Given the description of an element on the screen output the (x, y) to click on. 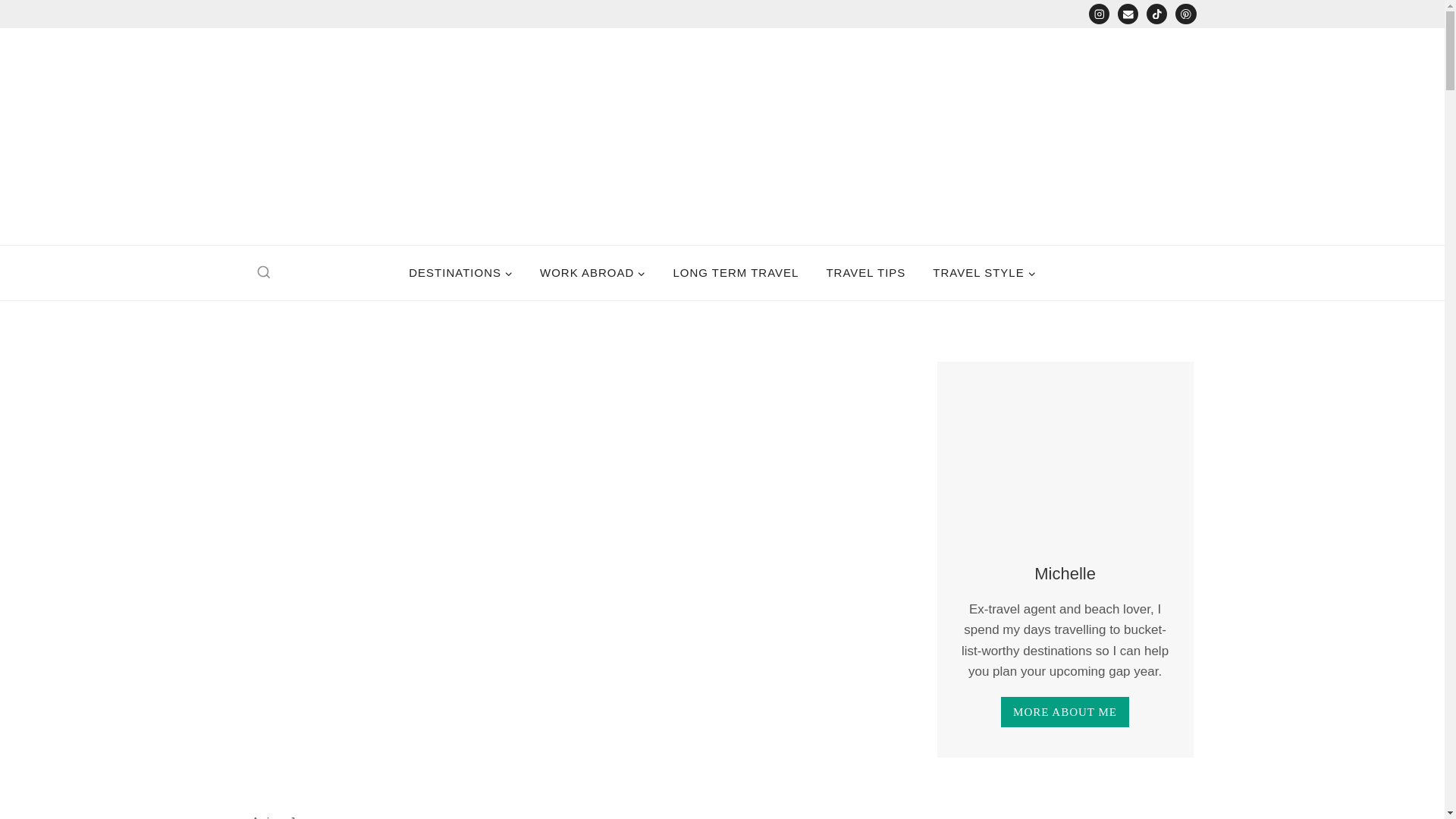
DESTINATIONS (459, 273)
Asia (264, 817)
LONG TERM TRAVEL (735, 273)
TRAVEL TIPS (865, 273)
Japan (307, 817)
WORK ABROAD (592, 273)
TRAVEL STYLE (983, 273)
